Given the description of an element on the screen output the (x, y) to click on. 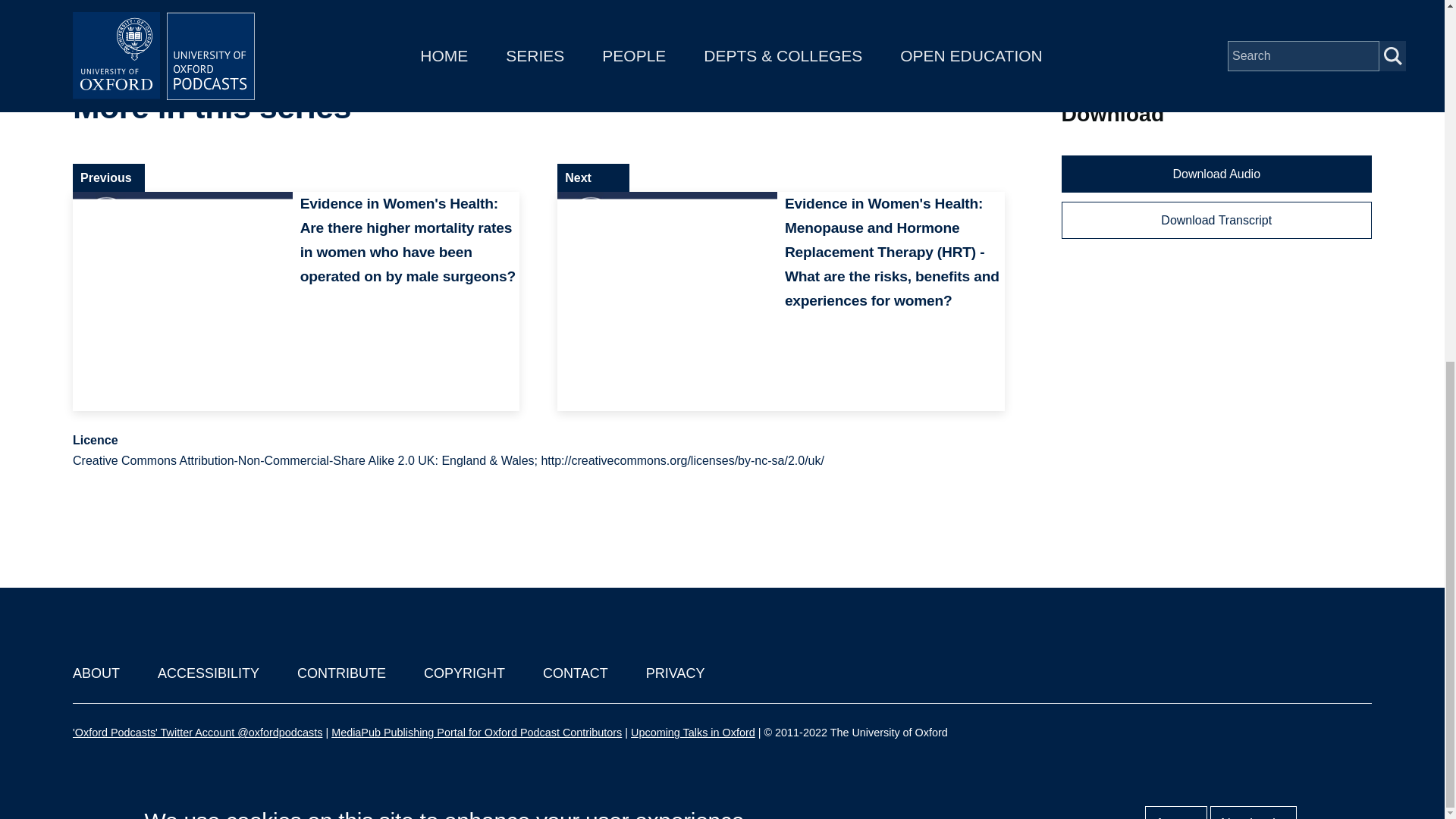
ACCESSIBILITY (208, 672)
CONTACT (575, 672)
ABOUT (95, 672)
Audio RSS Feed (1126, 56)
Download Audio (1217, 173)
PRIVACY (675, 672)
Apple Podcast Audio (1136, 15)
CONTRIBUTE (341, 672)
Download Transcript (1217, 220)
View Series (959, 107)
COPYRIGHT (464, 672)
